Given the description of an element on the screen output the (x, y) to click on. 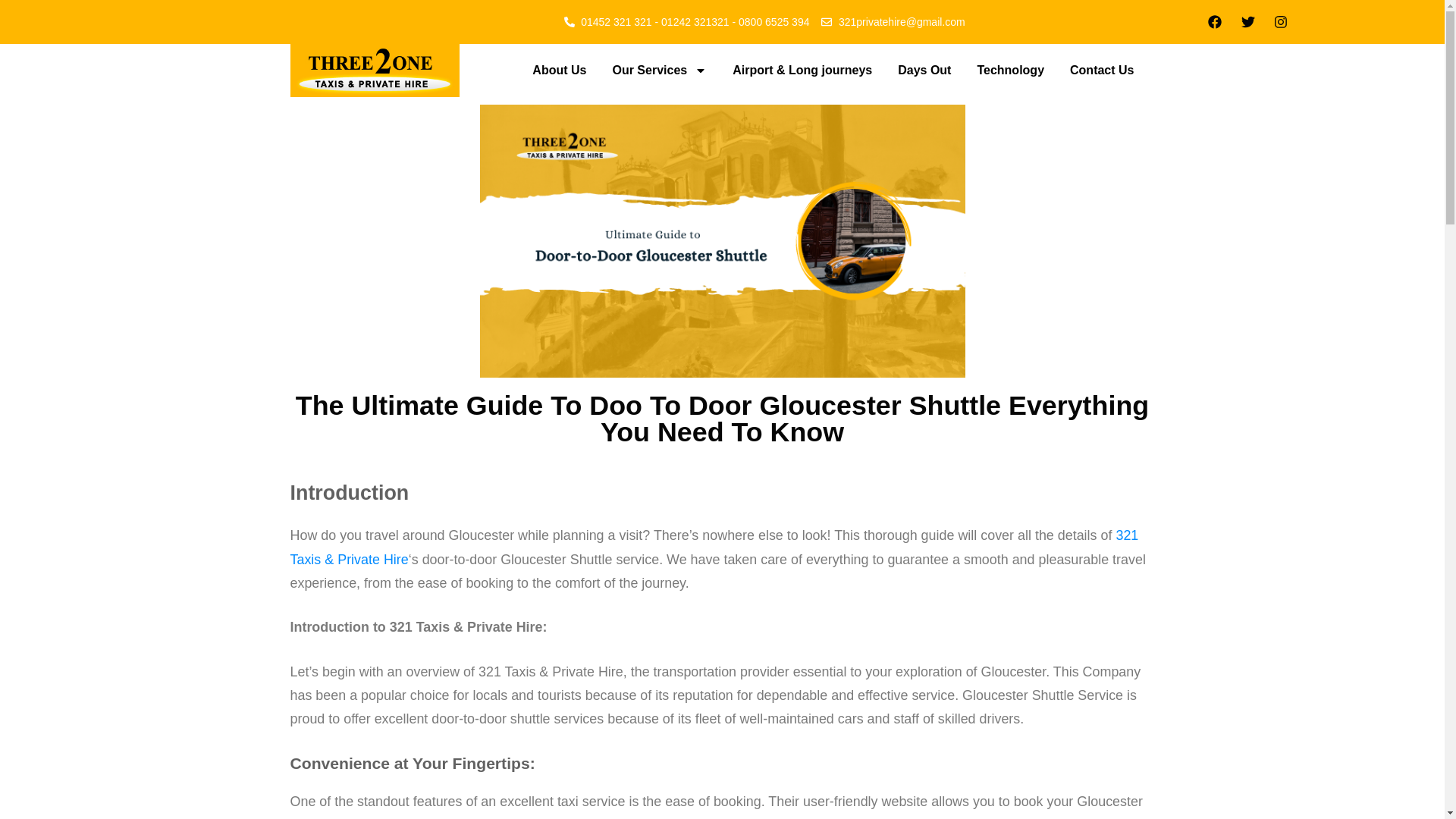
About Us (558, 70)
Our Services (658, 70)
Contact Us (1102, 70)
Technology (1010, 70)
Days Out (924, 70)
